Given the description of an element on the screen output the (x, y) to click on. 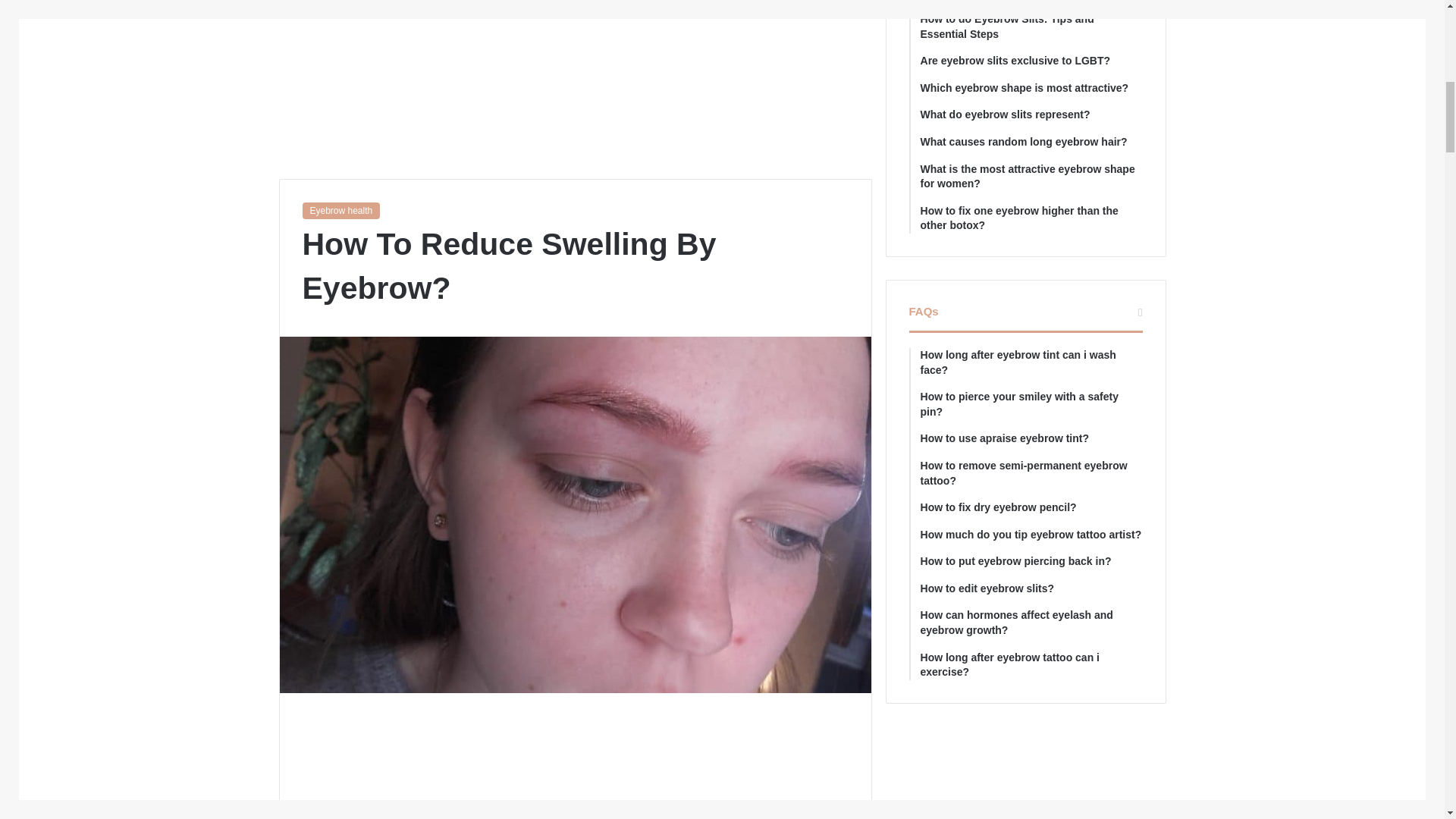
Eyebrow health (340, 210)
Which eyebrow shape is most attractive? (1031, 88)
What causes random long eyebrow hair? (1031, 142)
How to do Eyebrow Slits: Tips and Essential Steps (1031, 26)
What do eyebrow slits represent? (1031, 114)
Are eyebrow slits exclusive to LGBT? (1031, 61)
